Given the description of an element on the screen output the (x, y) to click on. 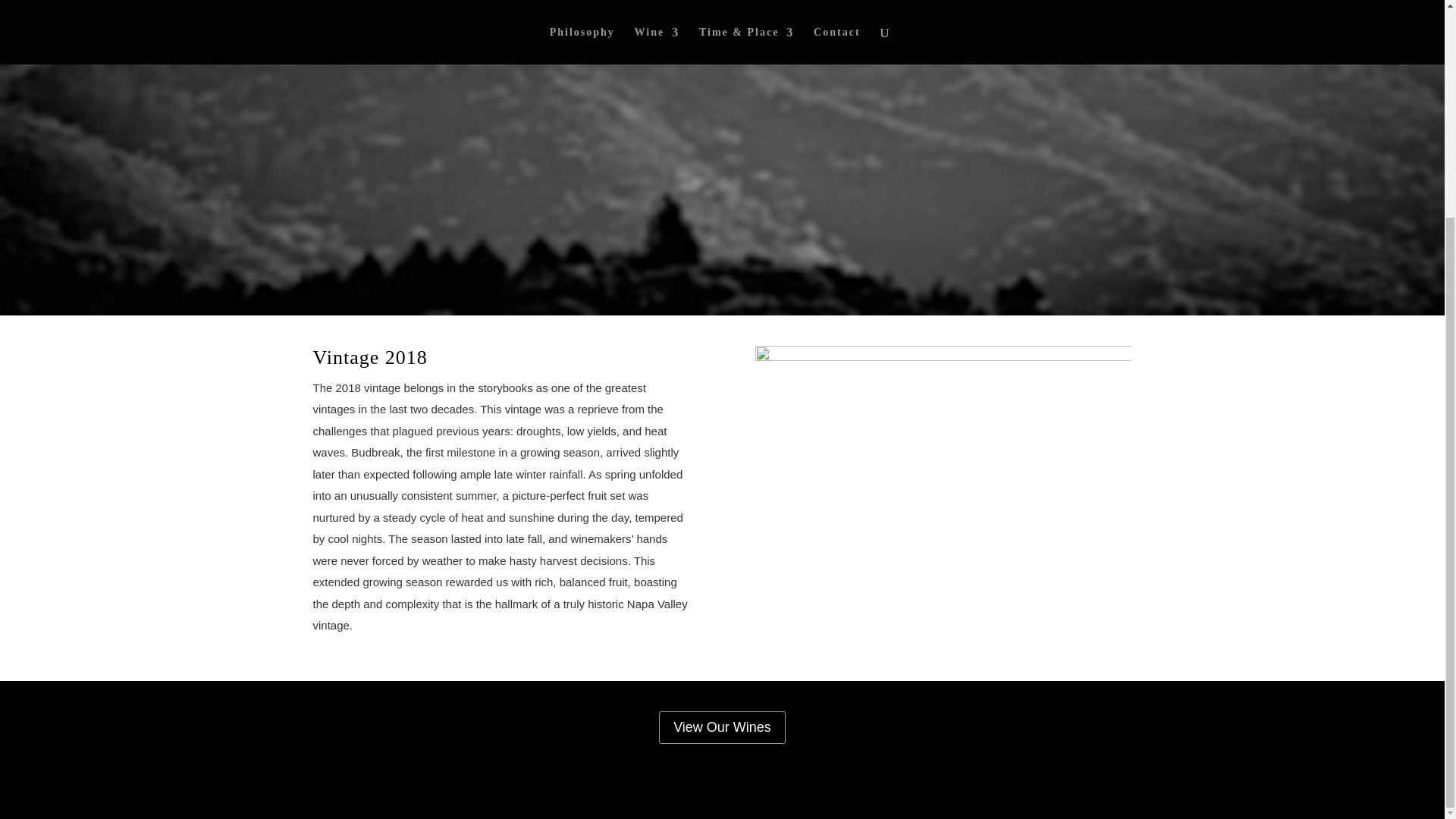
TimePlace-HarvestFinal (943, 497)
Elegant Themes (421, 795)
WordPress (568, 795)
Premium WordPress Themes (421, 795)
View Our Wines (722, 727)
